Given the description of an element on the screen output the (x, y) to click on. 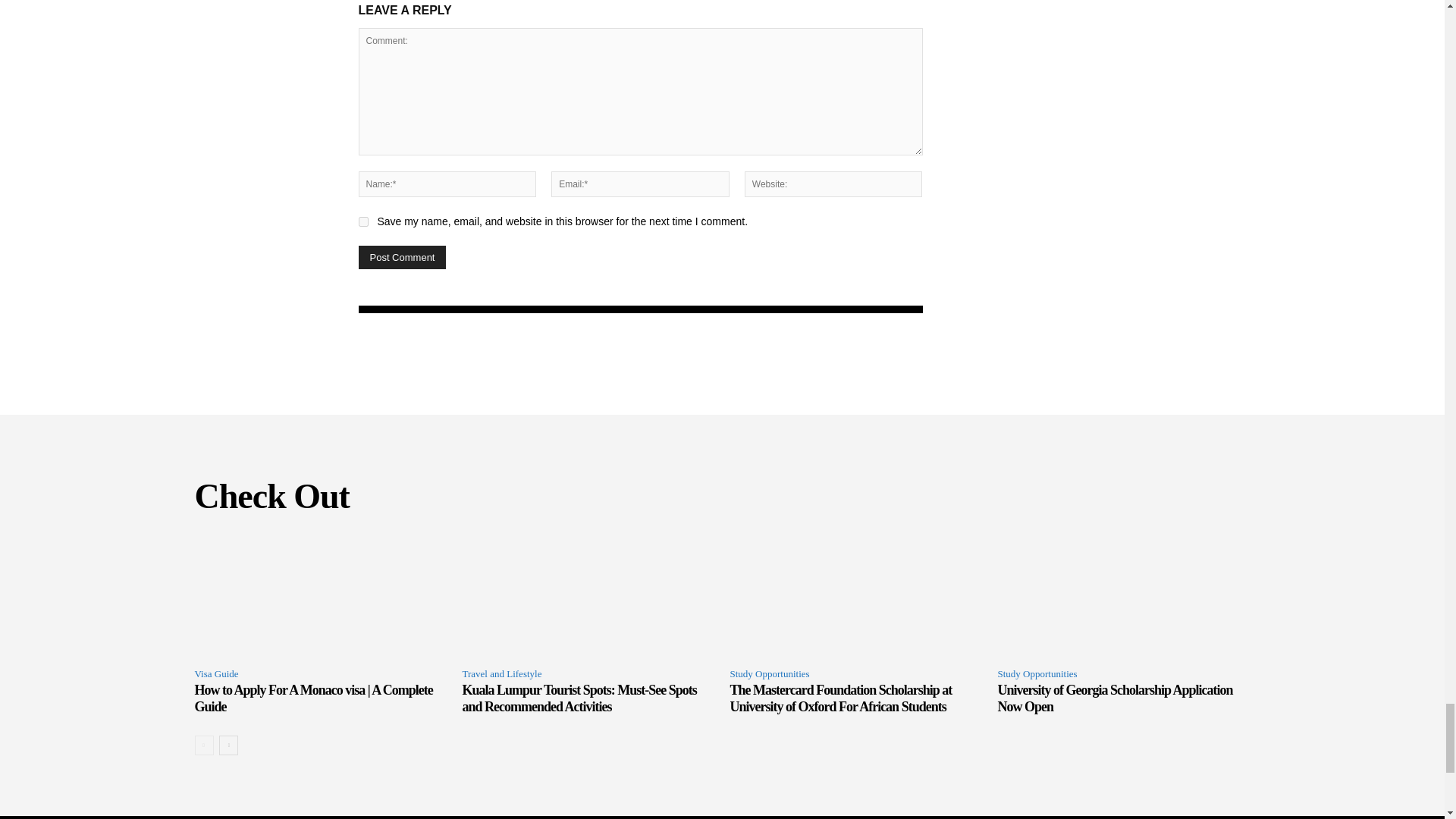
yes (363, 221)
Post Comment (401, 257)
